Given the description of an element on the screen output the (x, y) to click on. 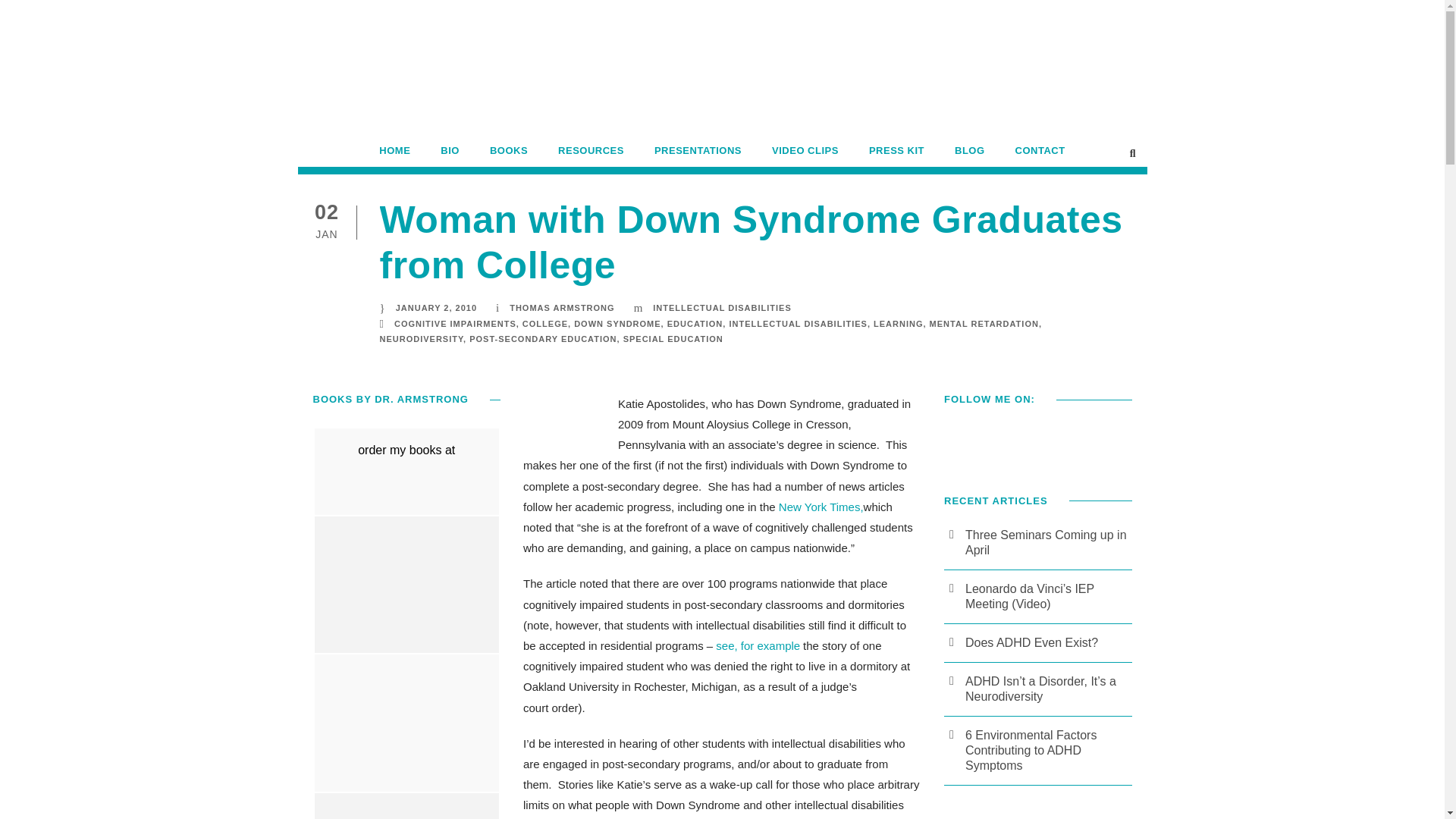
NEURODIVERSITY (420, 338)
Follow Us on Facebook (955, 437)
Follow Us on Twitter (987, 437)
BLOG (970, 154)
New York Times, (820, 506)
MENTAL RETARDATION (984, 323)
Follow Us on YouTube (1019, 437)
COGNITIVE IMPAIRMENTS (455, 323)
THOMAS ARMSTRONG (561, 307)
SPECIAL EDUCATION (673, 338)
